Given the description of an element on the screen output the (x, y) to click on. 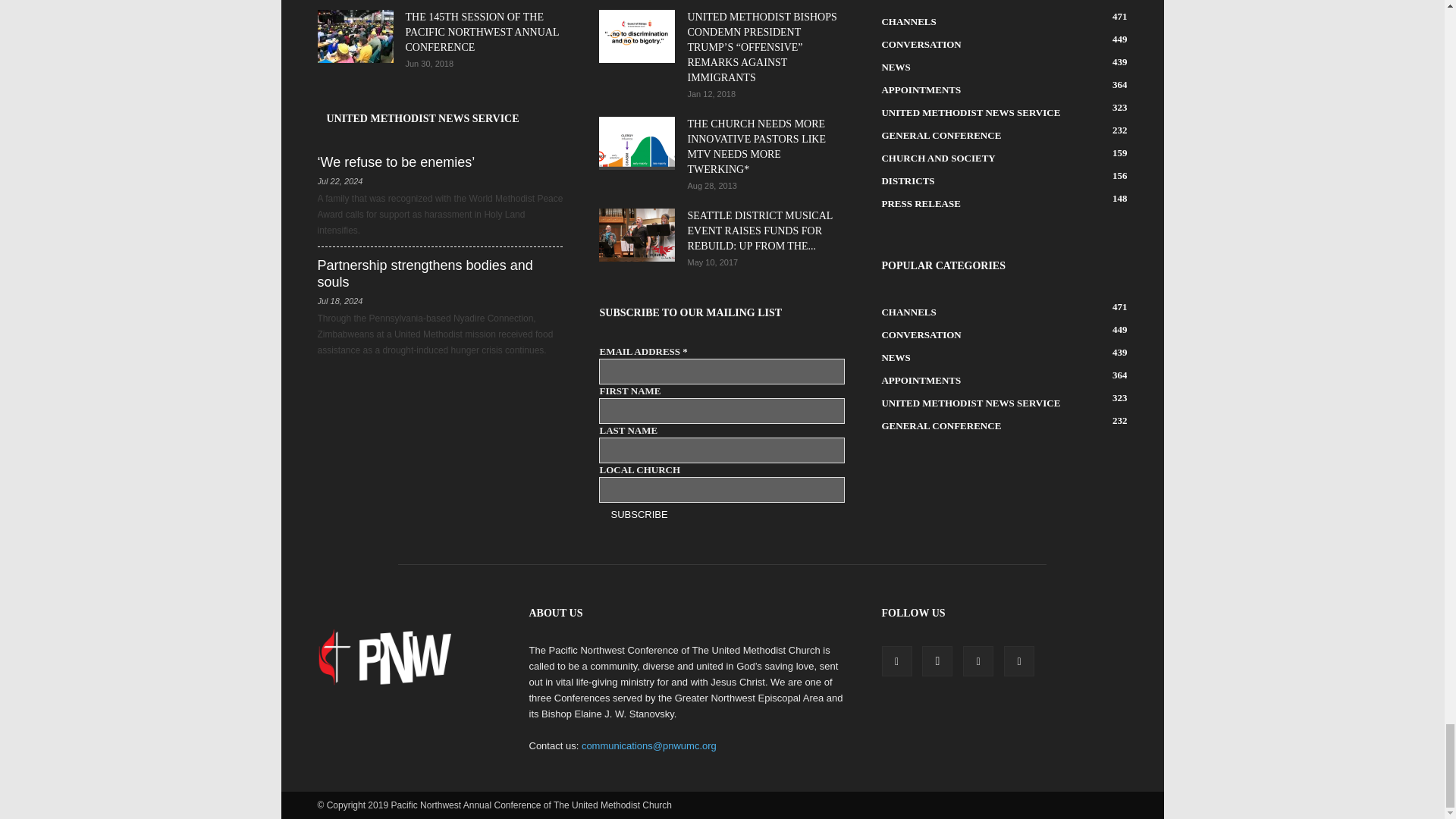
Subscribe (638, 514)
